Given the description of an element on the screen output the (x, y) to click on. 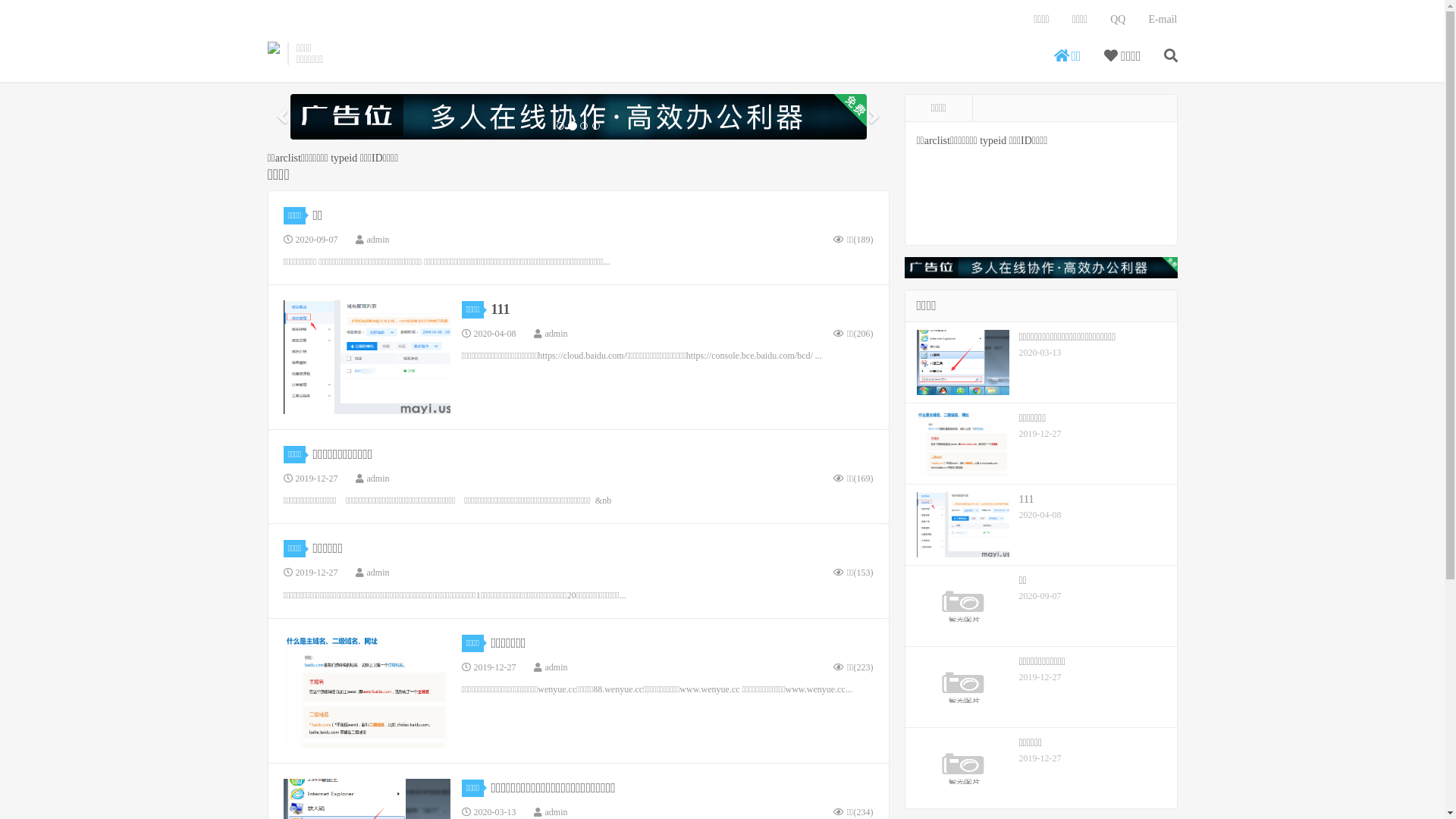
111
2020-04-08 Element type: text (1040, 524)
E-mail Element type: text (1162, 19)
QQ Element type: text (1117, 19)
111 Element type: text (500, 308)
